Given the description of an element on the screen output the (x, y) to click on. 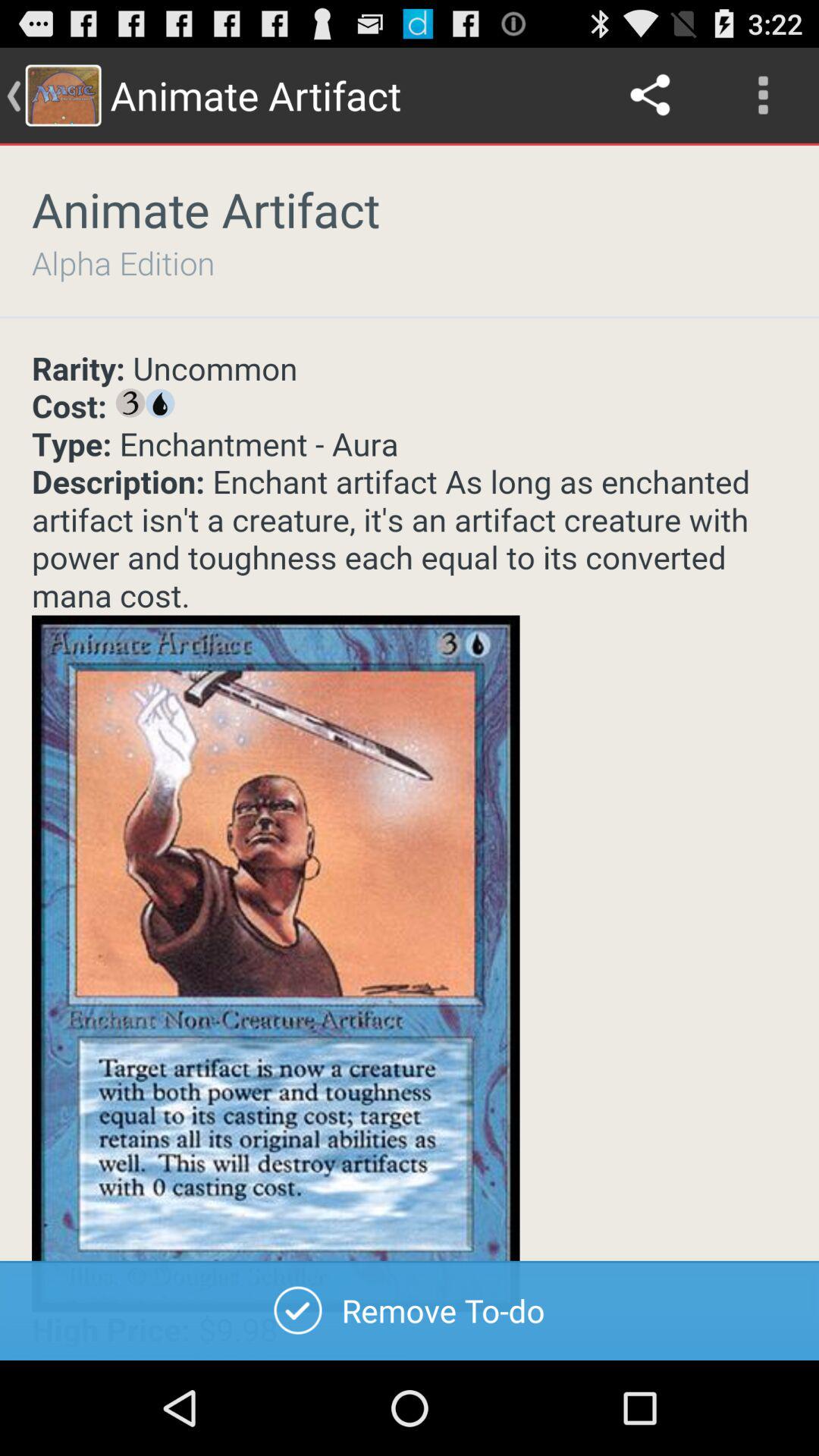
choose icon next to the animate artifact item (651, 95)
